Given the description of an element on the screen output the (x, y) to click on. 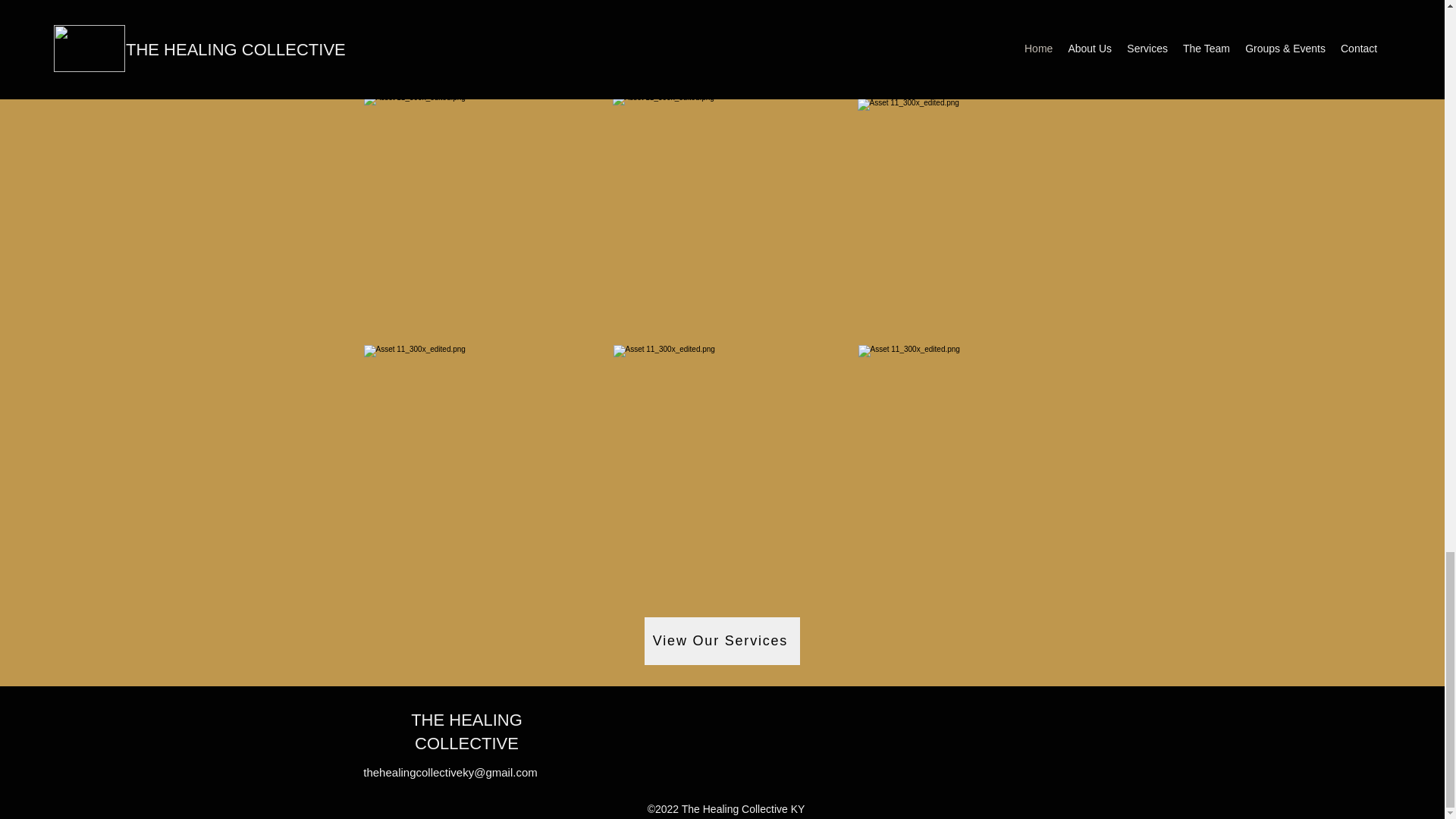
View Our Services (722, 641)
